Given the description of an element on the screen output the (x, y) to click on. 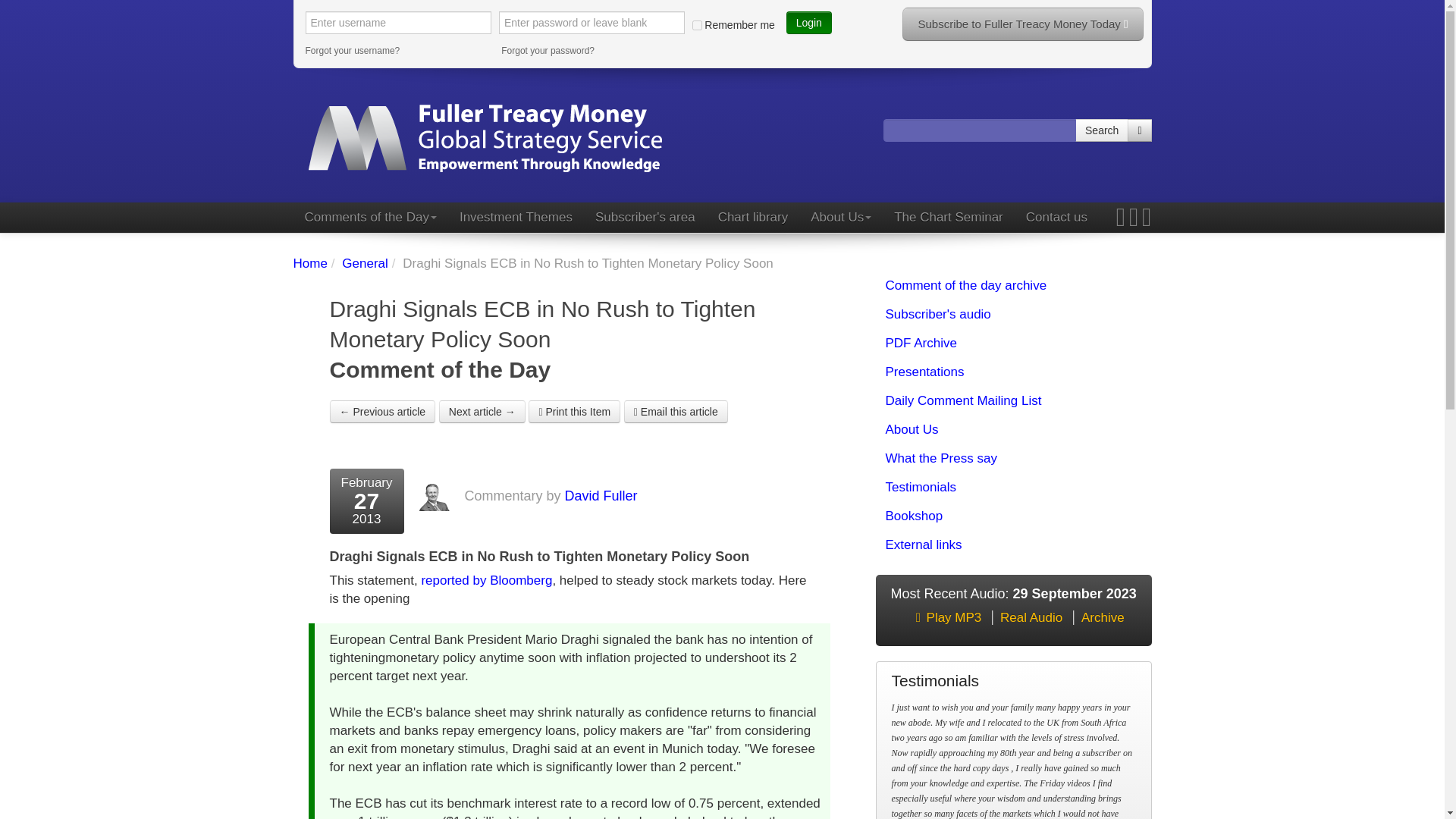
Login (808, 22)
Investment Themes (515, 217)
Forgot your username? (397, 50)
Subscriber's area (644, 217)
Print this Item (574, 411)
Subscribe to Fuller Treacy Money Today (1022, 23)
reported by Bloomberg (485, 580)
Contact us (1056, 217)
Email this article (676, 411)
About Us (840, 217)
Search (1101, 129)
The Chart Seminar (948, 217)
Home (309, 263)
Comments of the Day (369, 217)
1 (697, 24)
